Given the description of an element on the screen output the (x, y) to click on. 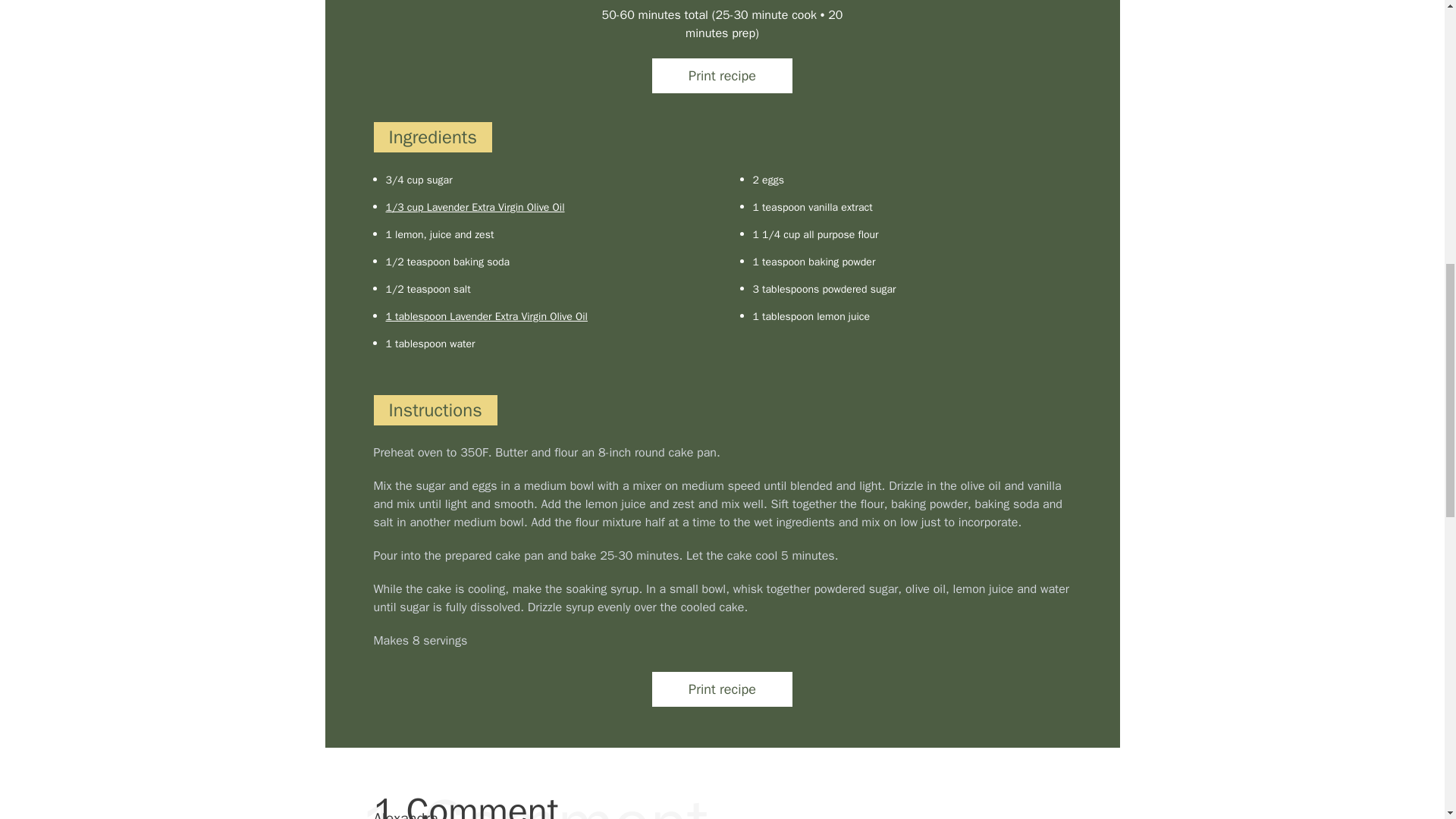
1 tablespoon Lavender Extra Virgin Olive Oil (485, 316)
Print recipe (722, 689)
Print recipe (722, 75)
